Given the description of an element on the screen output the (x, y) to click on. 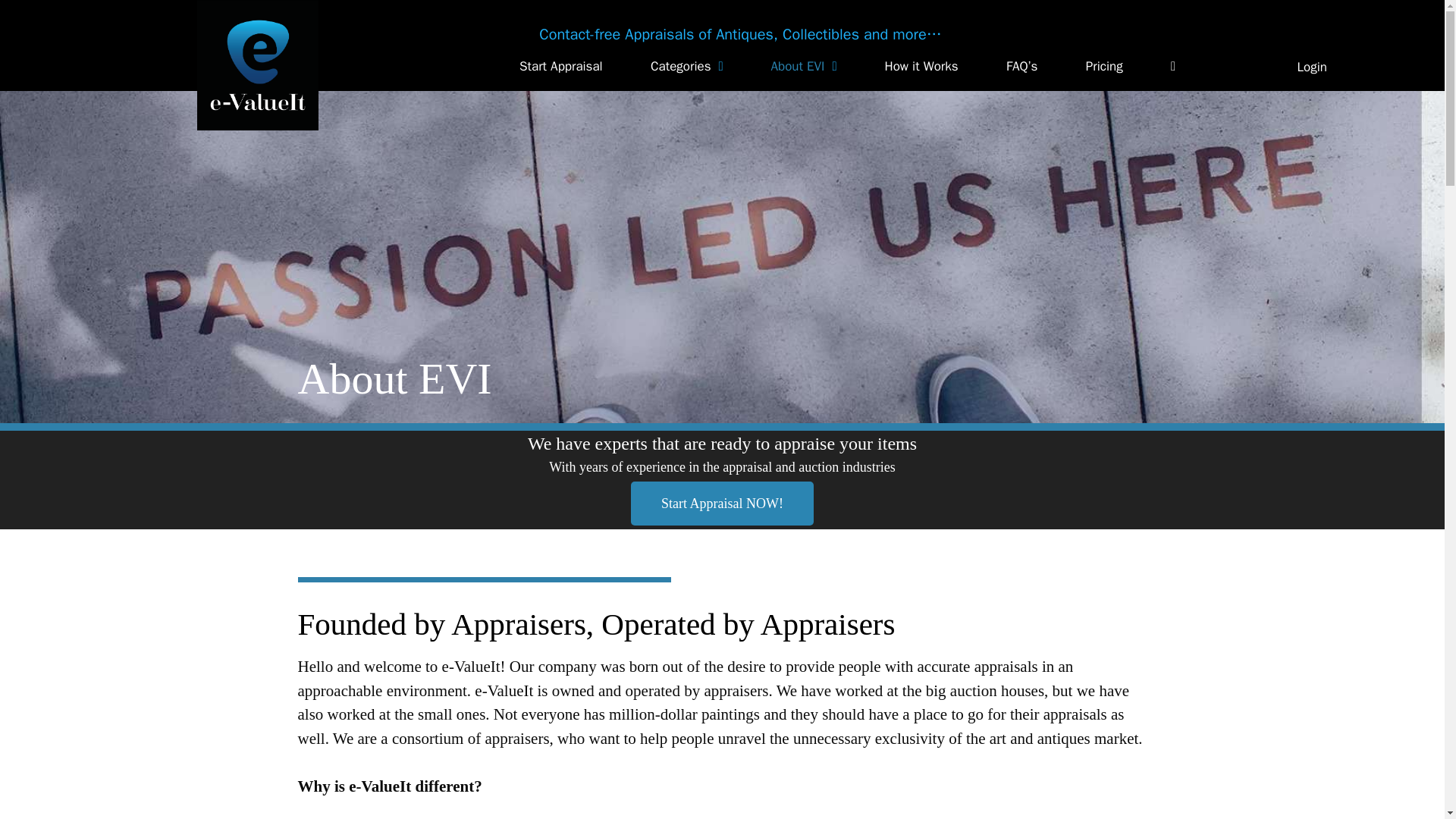
About EVI (803, 66)
Start Appraisal (560, 66)
Categories (687, 66)
e-ValueIt (257, 65)
Login (1311, 66)
How it Works (920, 66)
e-ValueIt (257, 64)
Pricing (1104, 66)
